Given the description of an element on the screen output the (x, y) to click on. 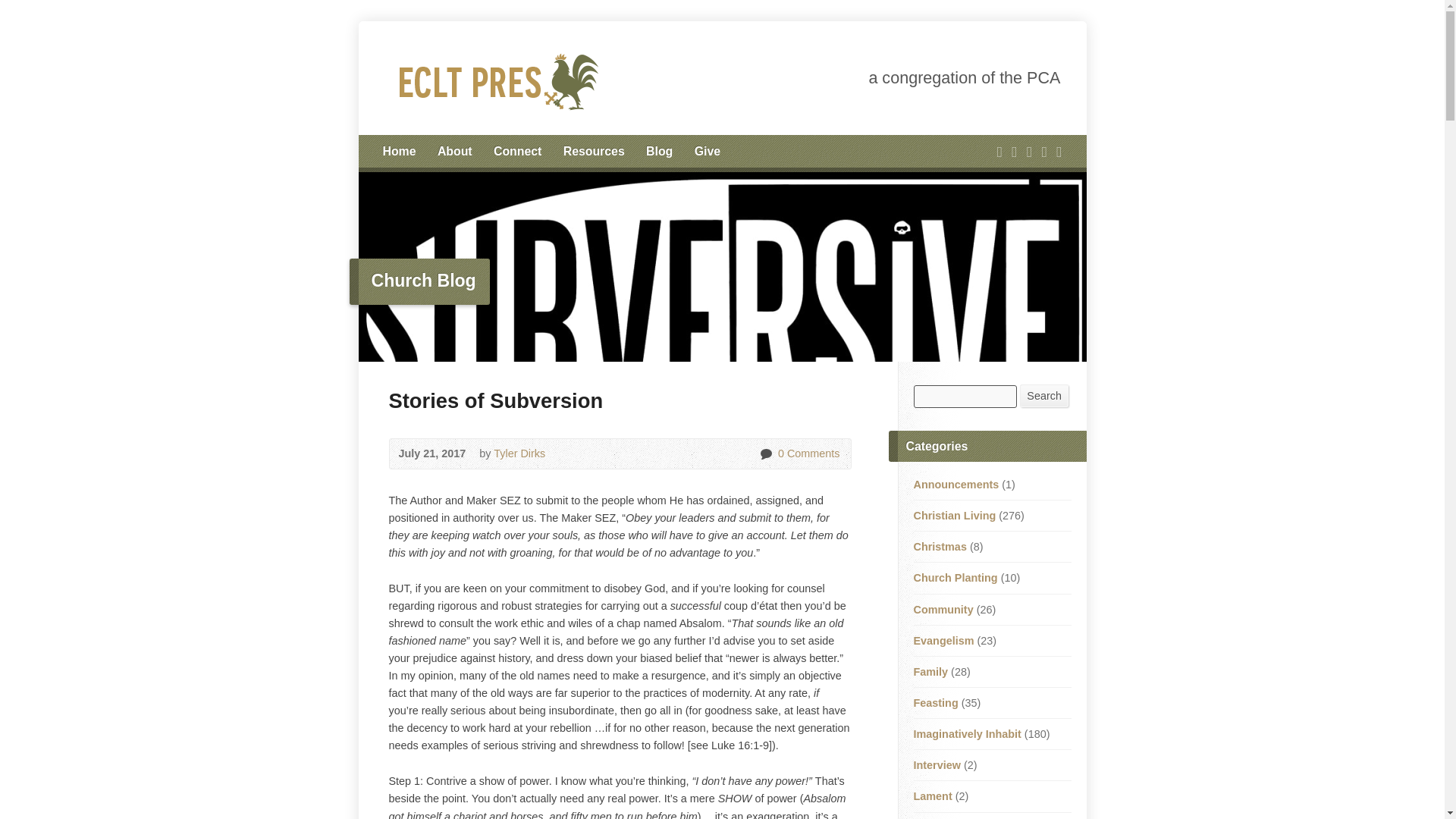
0 Comments (807, 453)
Home (397, 151)
0 Comments (765, 453)
Tyler Dirks (518, 453)
0 Comments (765, 453)
Blog (659, 151)
About (454, 151)
Connect (517, 151)
Give (707, 151)
Resources (593, 151)
0 Comments (807, 453)
